Given the description of an element on the screen output the (x, y) to click on. 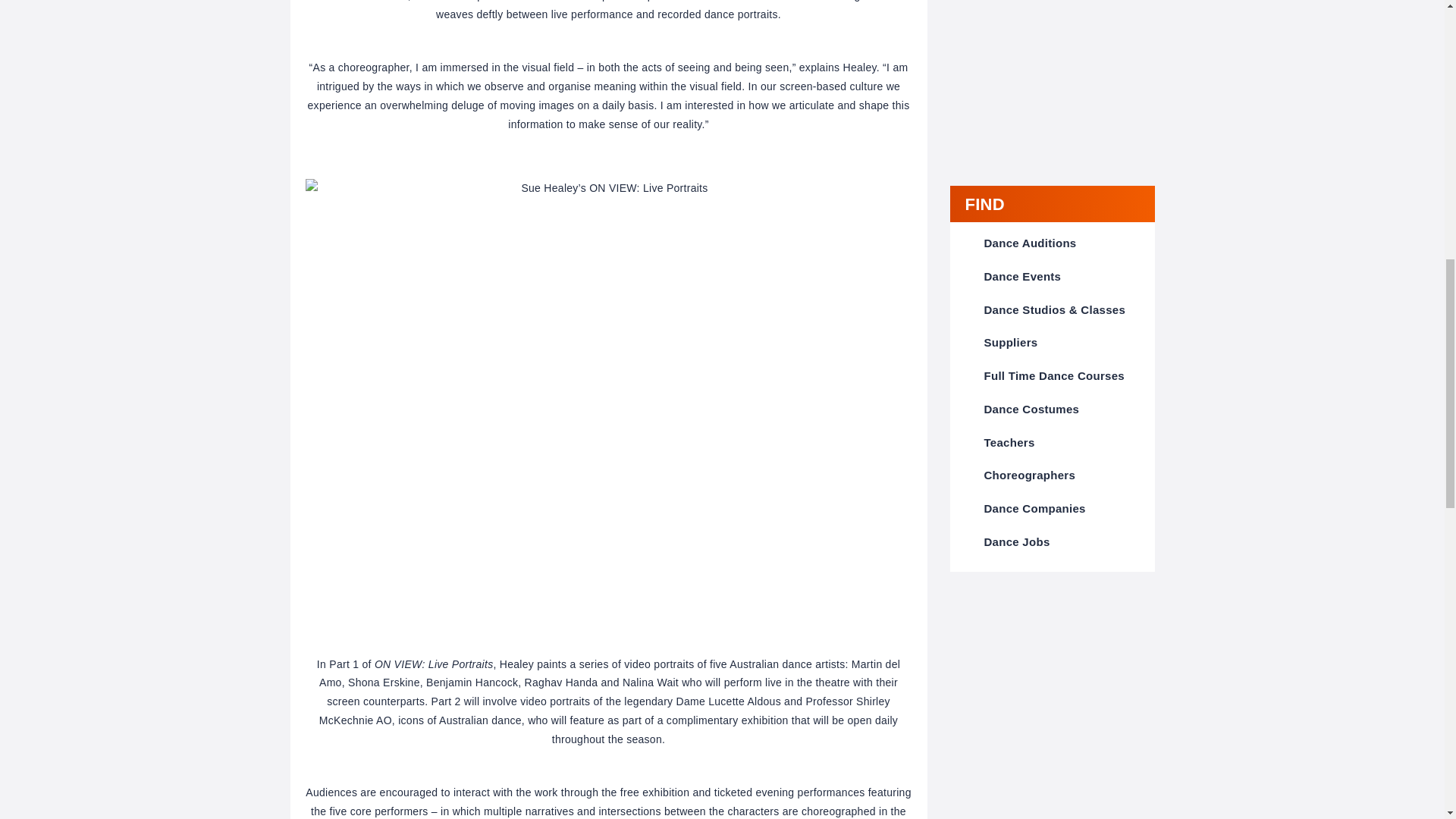
Suppliers (1011, 341)
Dance Jobs (1016, 541)
Dance Costumes (1032, 408)
Dance Companies (1035, 508)
Full Time Dance Courses (1054, 375)
Dance Events (1022, 276)
Dance Auditions (1030, 242)
Choreographers (1029, 474)
Teachers (1009, 441)
